Given the description of an element on the screen output the (x, y) to click on. 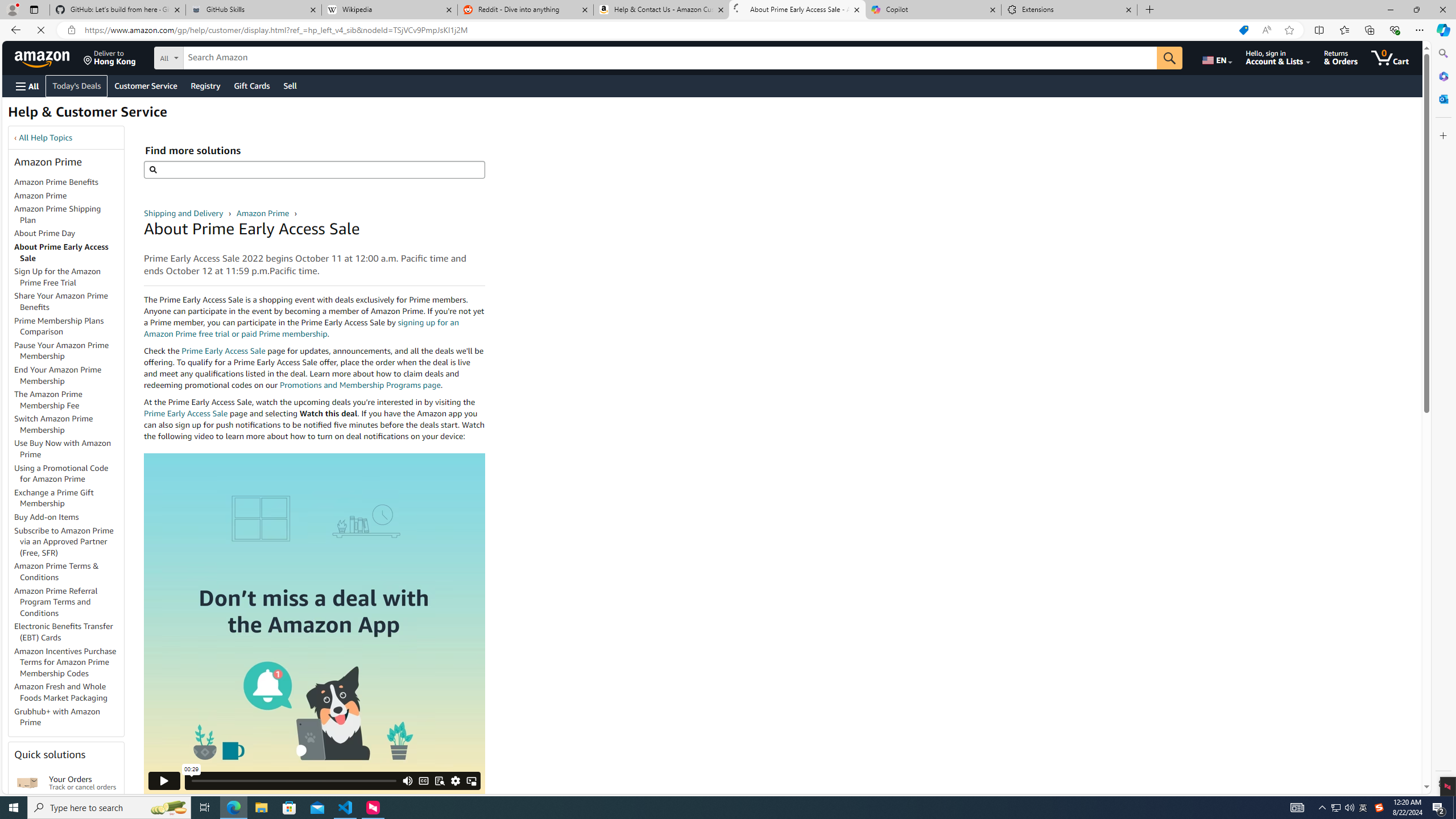
Outlet (181, 106)
Wikipedia (390, 9)
Search Amazon (677, 57)
Amazon Resale (227, 106)
Renewed Deals (135, 106)
Help & Contact Us - Amazon Customer Service (660, 9)
